Given the description of an element on the screen output the (x, y) to click on. 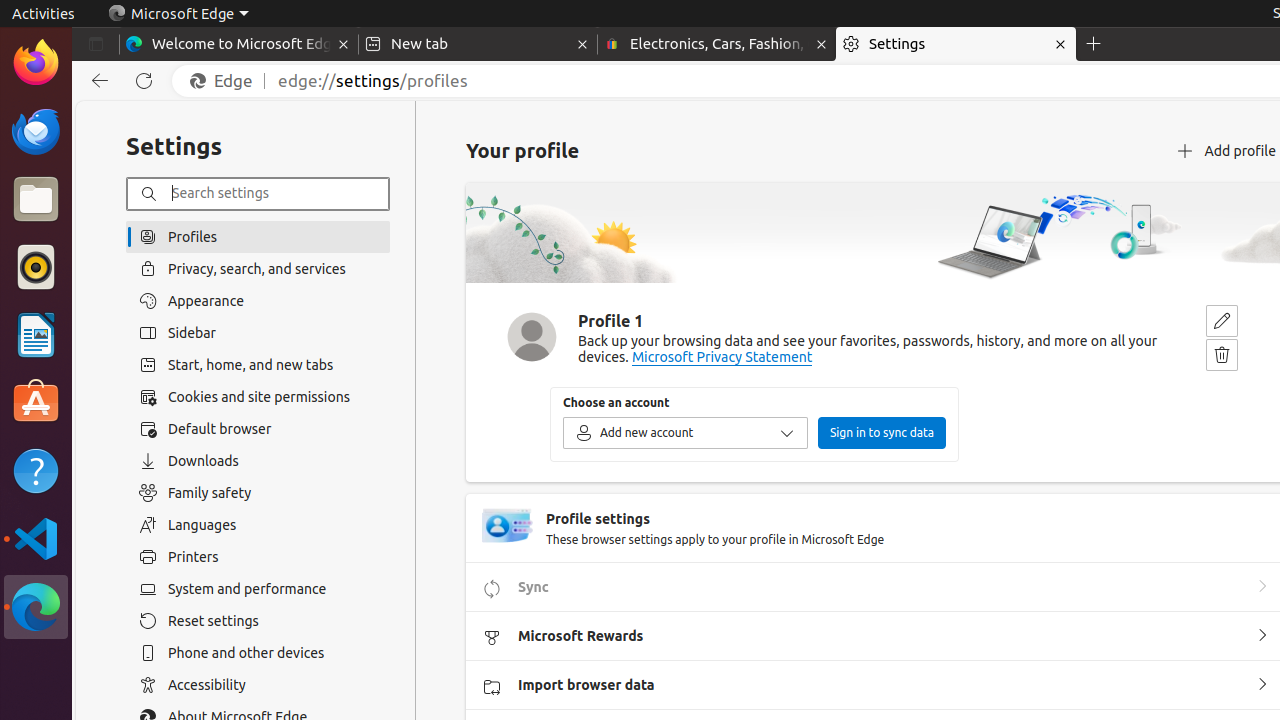
Appearance Element type: tree-item (258, 301)
Privacy, search, and services Element type: tree-item (258, 268)
Ubuntu Software Element type: push-button (36, 402)
Microsoft Privacy Statement Element type: link (722, 357)
Microsoft Edge Element type: push-button (36, 607)
